Given the description of an element on the screen output the (x, y) to click on. 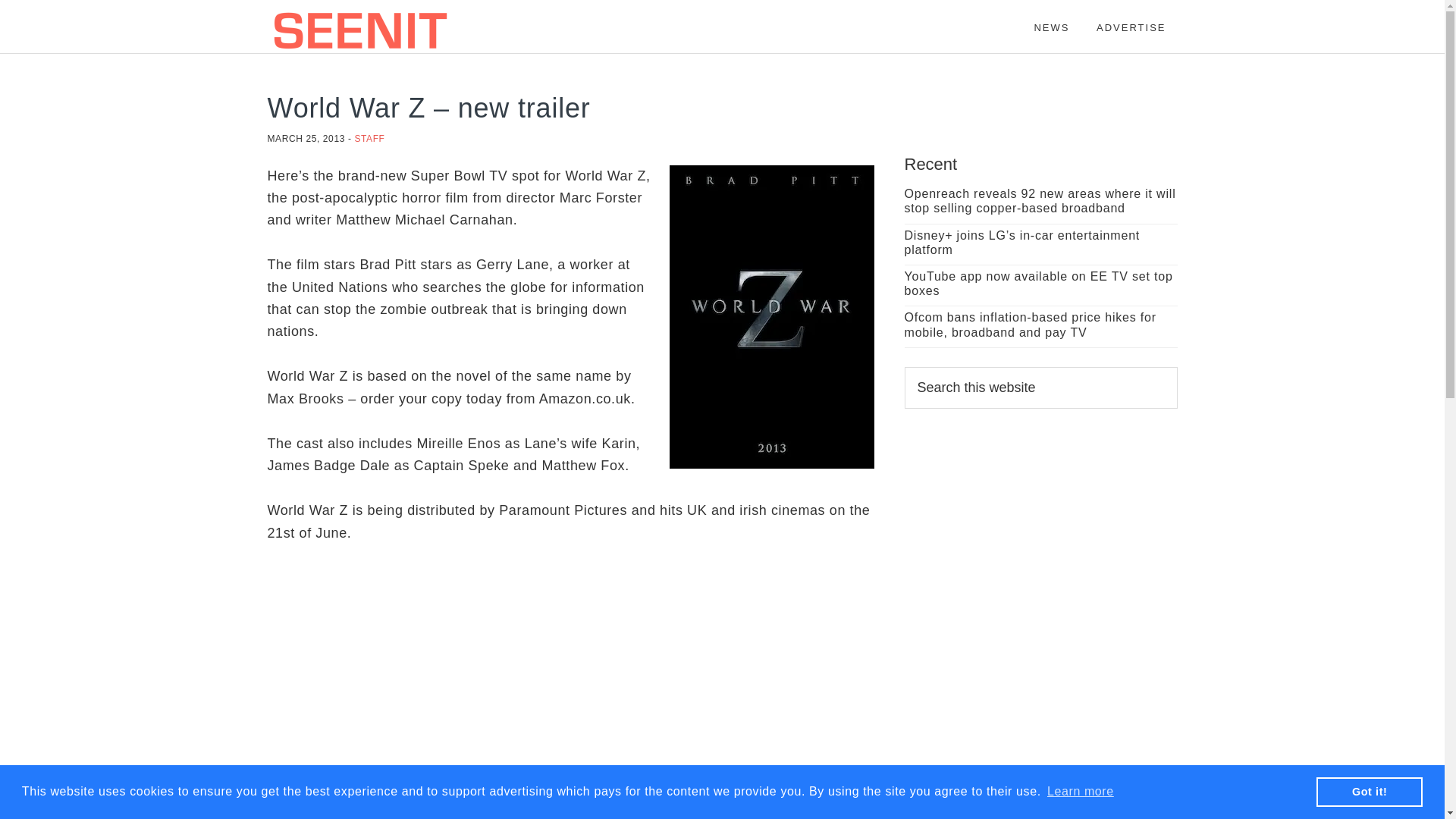
SEENIT (403, 30)
ADVERTISE (1130, 20)
Got it! (1369, 791)
NEWS (1051, 20)
STAFF (368, 138)
YouTube app now available on EE TV set top boxes (1038, 283)
Learn more (1080, 791)
